Given the description of an element on the screen output the (x, y) to click on. 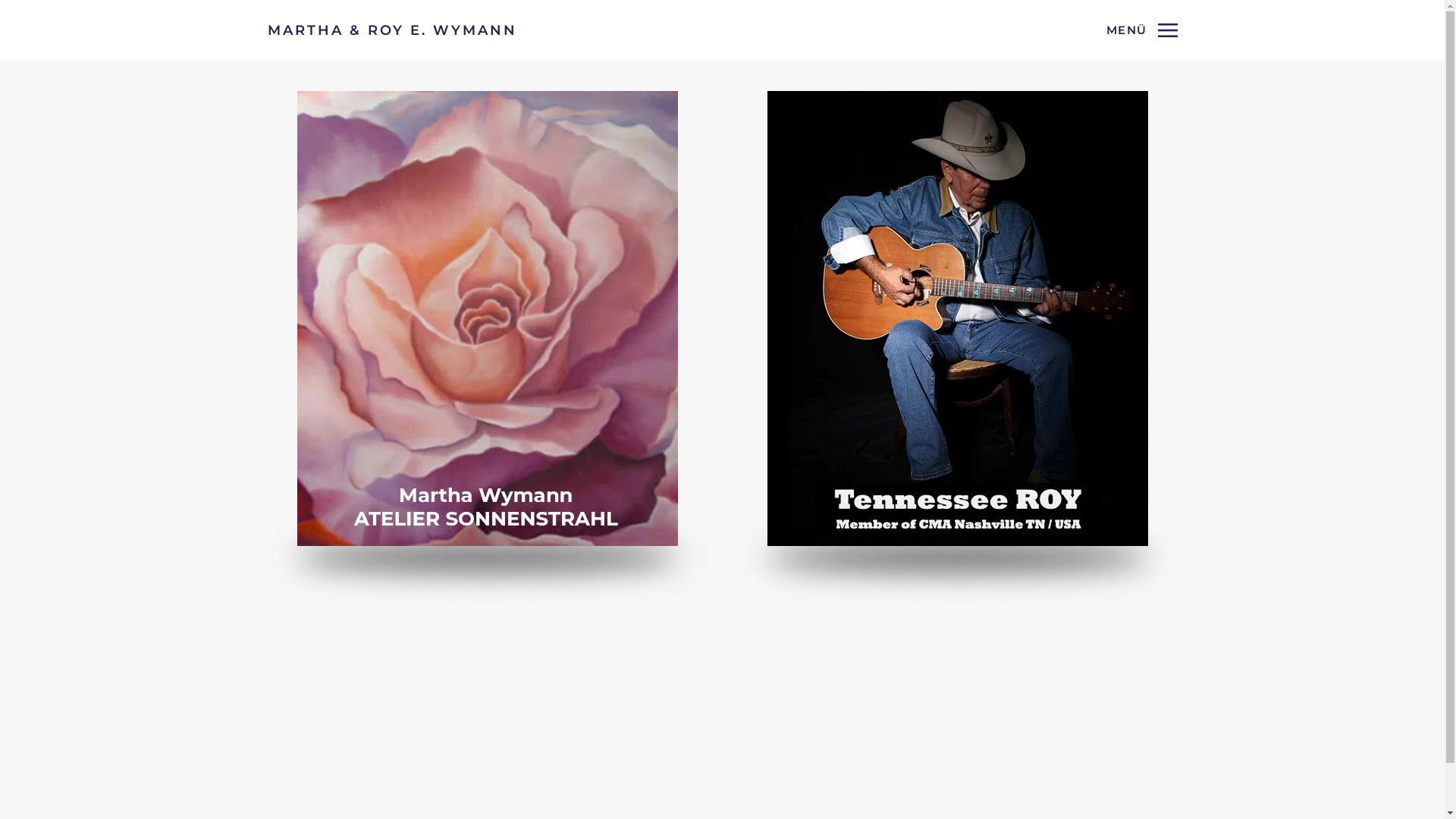
MARTHA & ROY E. WYMANN Element type: text (391, 30)
